Given the description of an element on the screen output the (x, y) to click on. 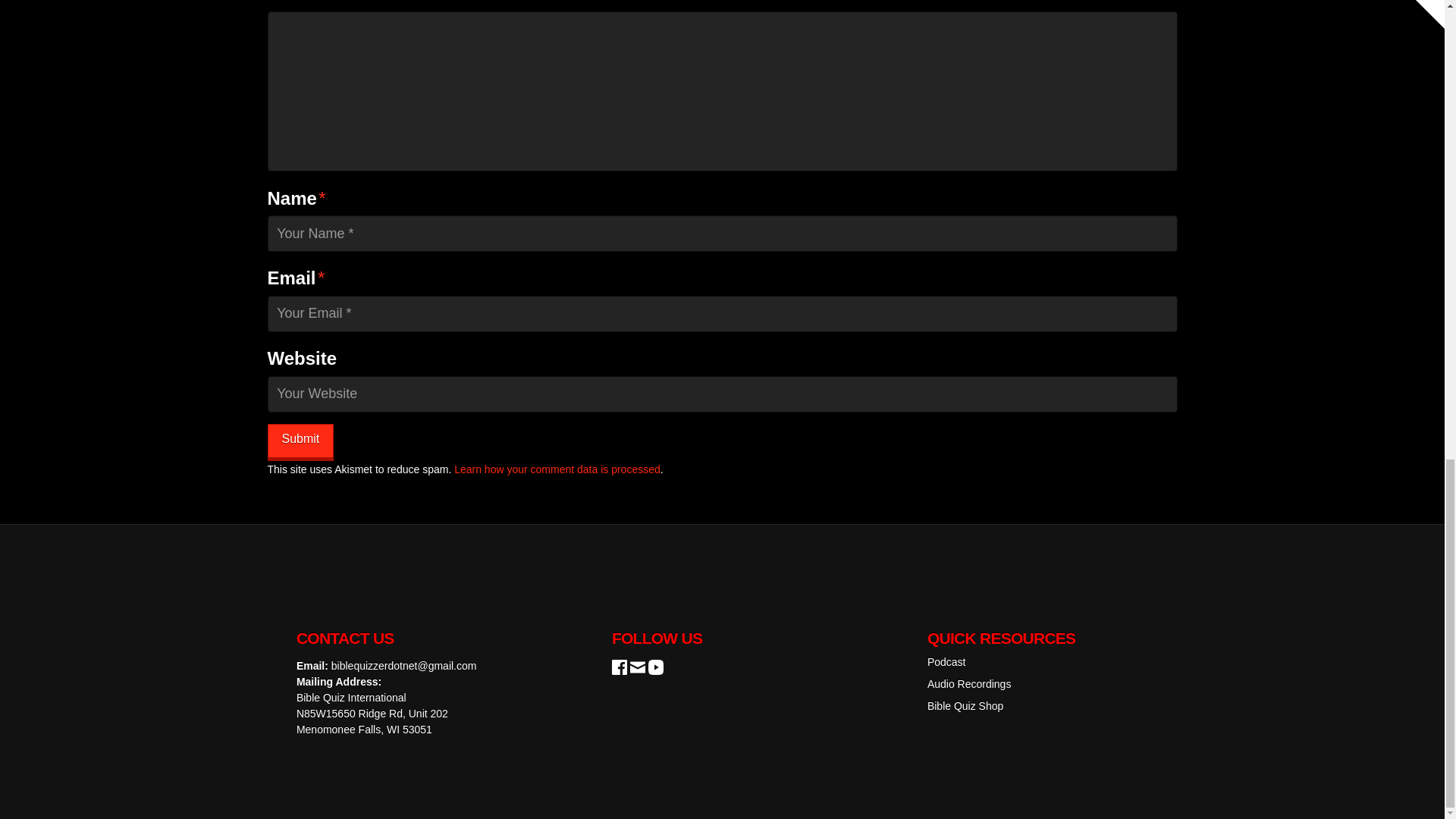
Submit (299, 440)
